Given the description of an element on the screen output the (x, y) to click on. 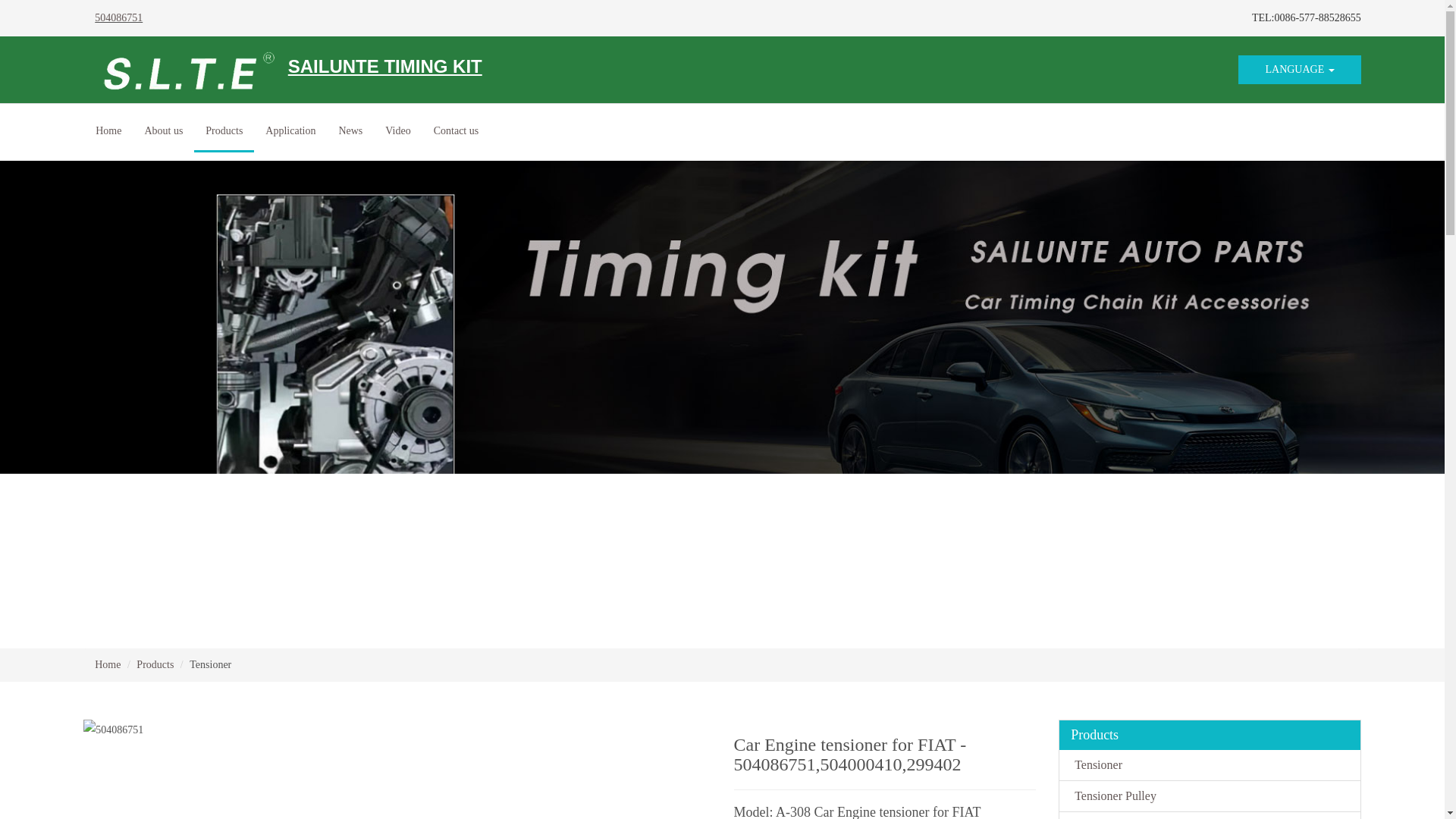
About us (162, 130)
Contact us (456, 130)
Products (154, 664)
Video (398, 130)
SAILUNTE TIMING KIT (287, 69)
Home (107, 664)
Products (223, 132)
News (350, 130)
Application (289, 130)
LANGUAGE (1299, 69)
Home (108, 130)
504086751 (112, 730)
504086751 (118, 17)
